Given the description of an element on the screen output the (x, y) to click on. 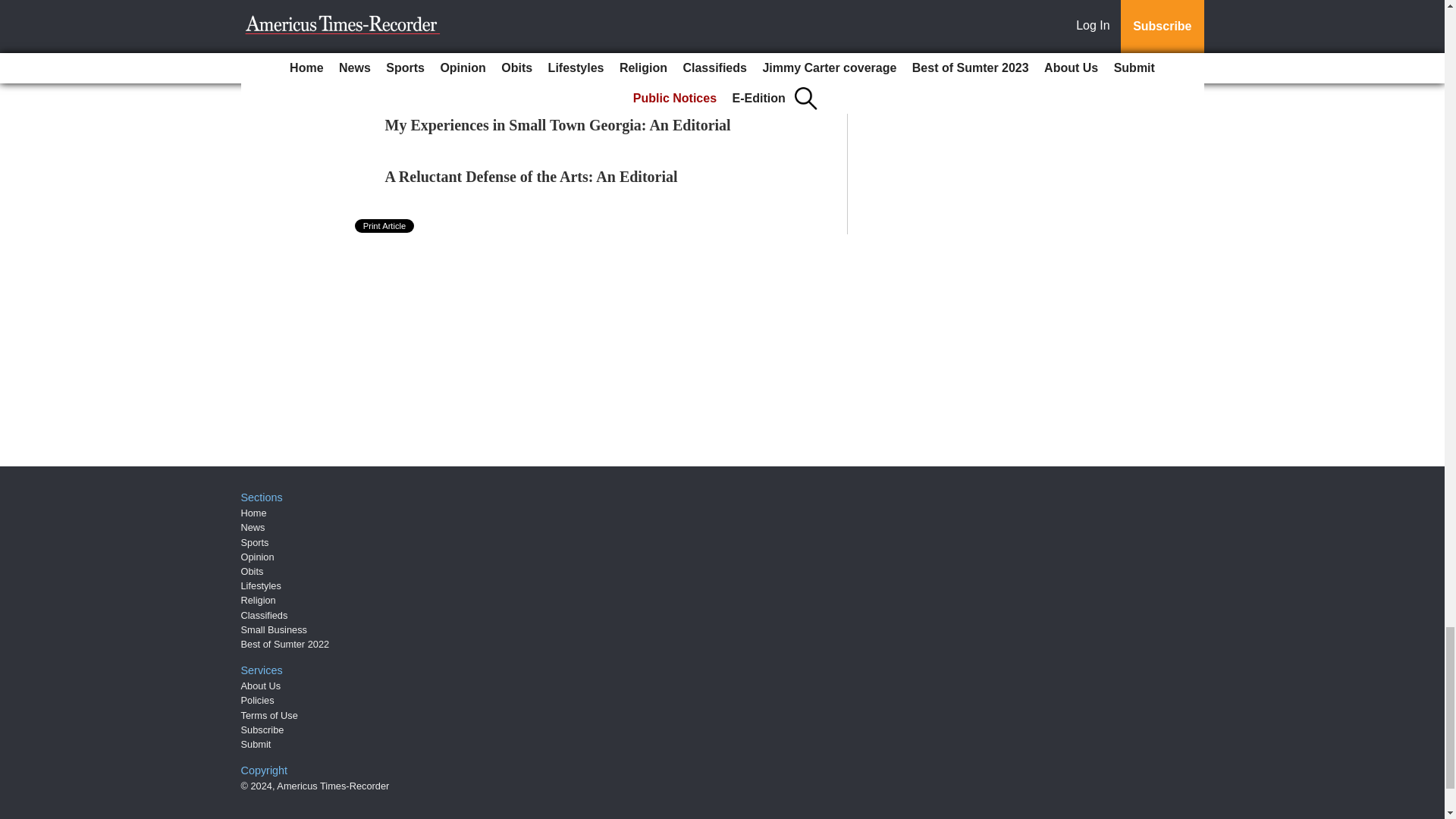
My Experiences in Small Town Georgia: An Editorial (557, 125)
News (252, 527)
Sports (255, 542)
Obits (252, 571)
My Experiences in Small Town Georgia: An Editorial (557, 125)
Home (253, 512)
Print Article (384, 225)
A Reluctant Defense of the Arts: An Editorial (531, 176)
A Reluctant Defense of the Arts: An Editorial (531, 176)
Opinion (258, 556)
